Given the description of an element on the screen output the (x, y) to click on. 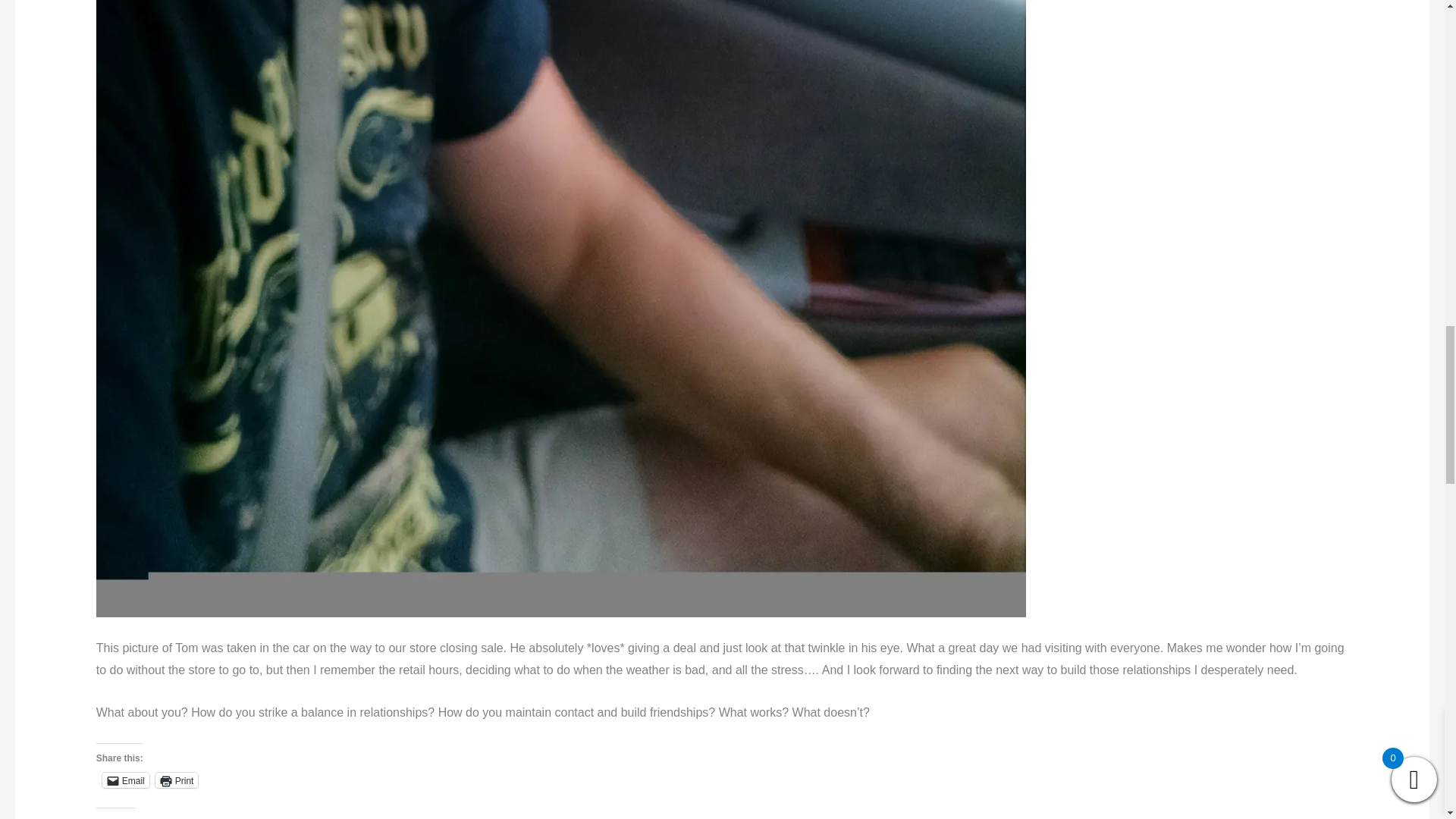
Print (176, 780)
Click to print (176, 780)
Click to email a link to a friend (125, 780)
Email (125, 780)
